Given the description of an element on the screen output the (x, y) to click on. 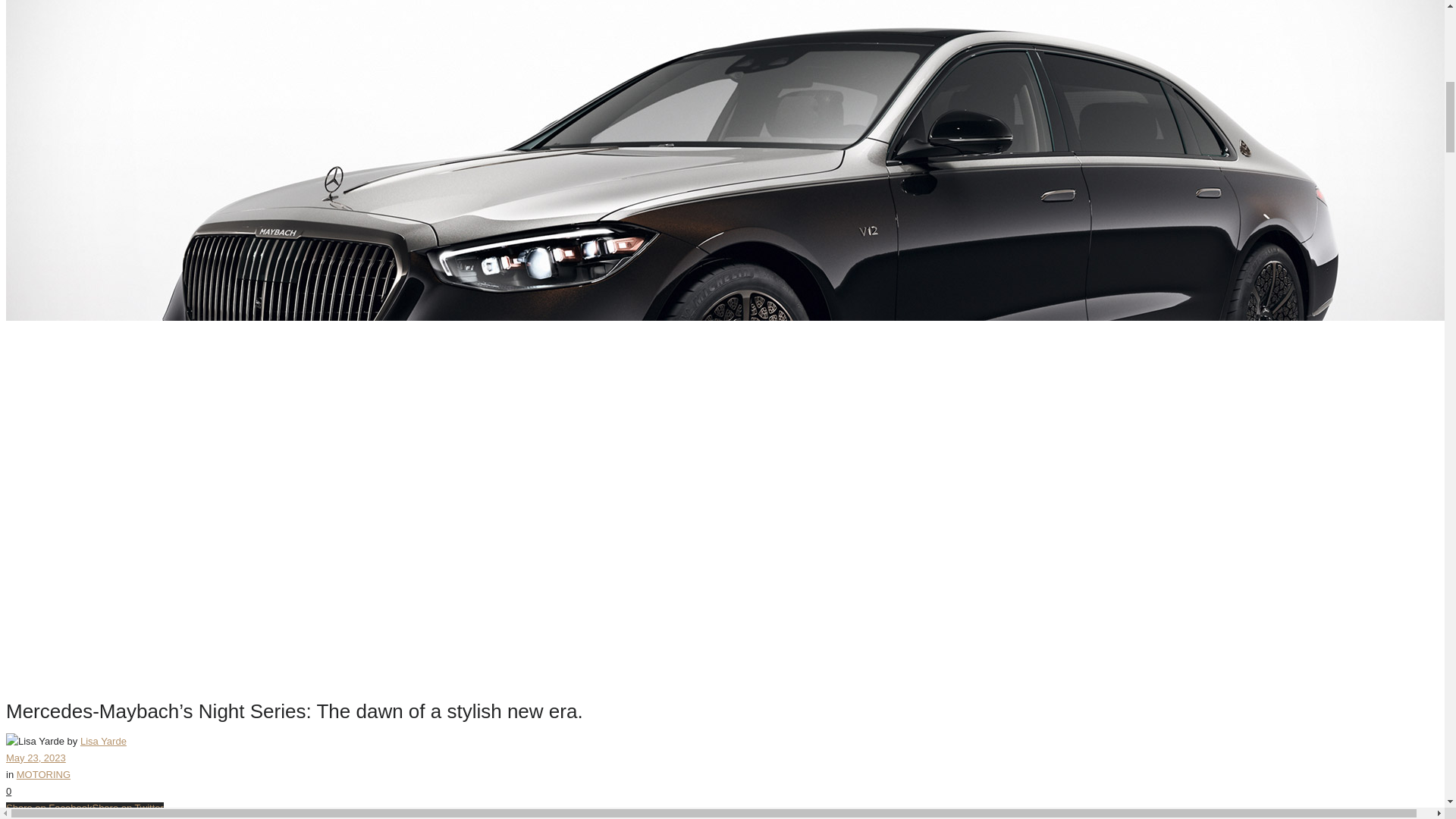
May 23, 2023 (35, 757)
Share on Twitter (127, 808)
Share on Facebook (48, 808)
MOTORING (42, 774)
Lisa Yarde (103, 740)
